Given the description of an element on the screen output the (x, y) to click on. 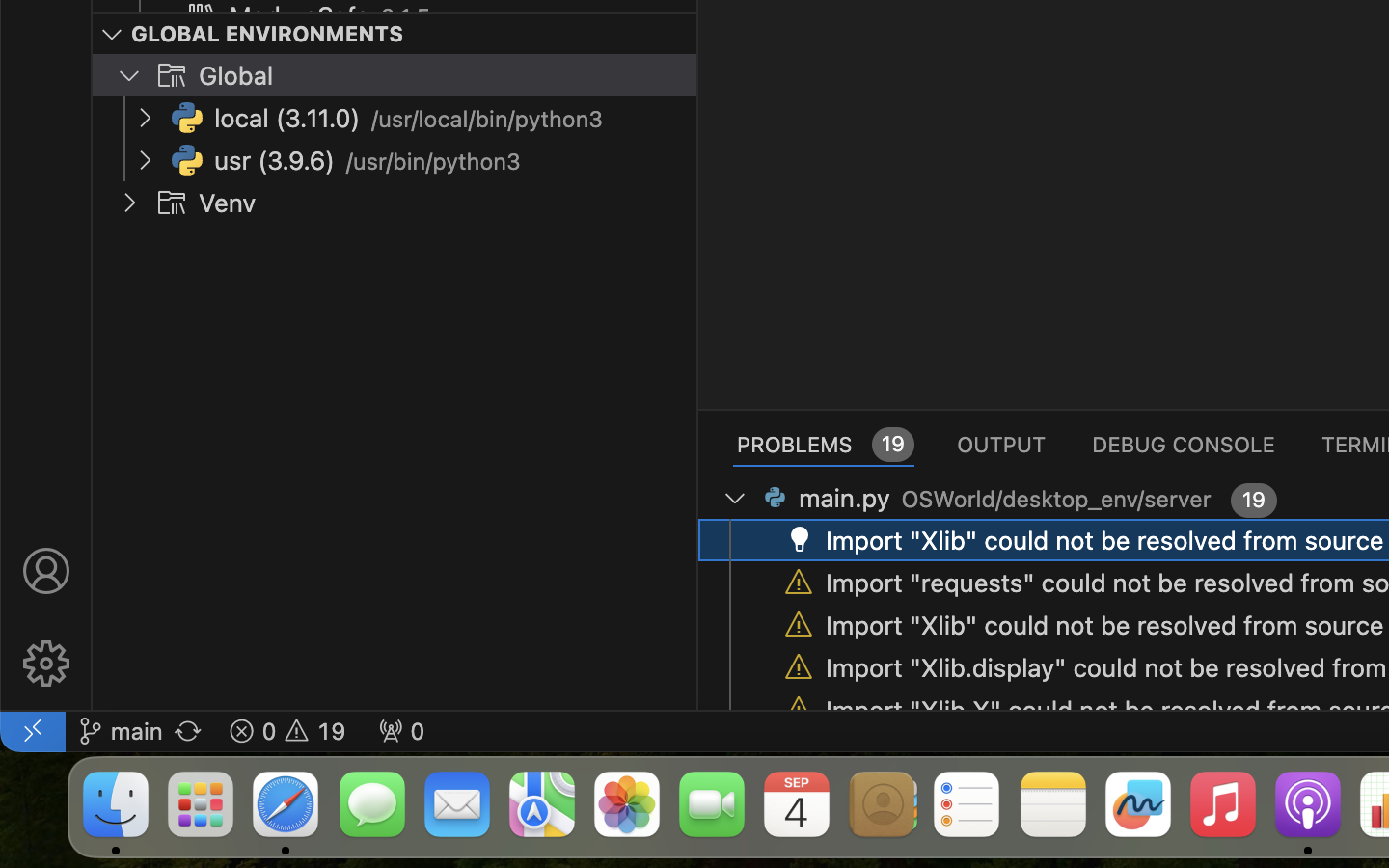
 Element type: AXButton (798, 539)
local (3.11.0) Element type: AXStaticText (287, 118)
main  Element type: AXButton (120, 730)
usr (3.9.6) Element type: AXStaticText (274, 160)
GLOBAL ENVIRONMENTS Element type: AXStaticText (268, 33)
